Given the description of an element on the screen output the (x, y) to click on. 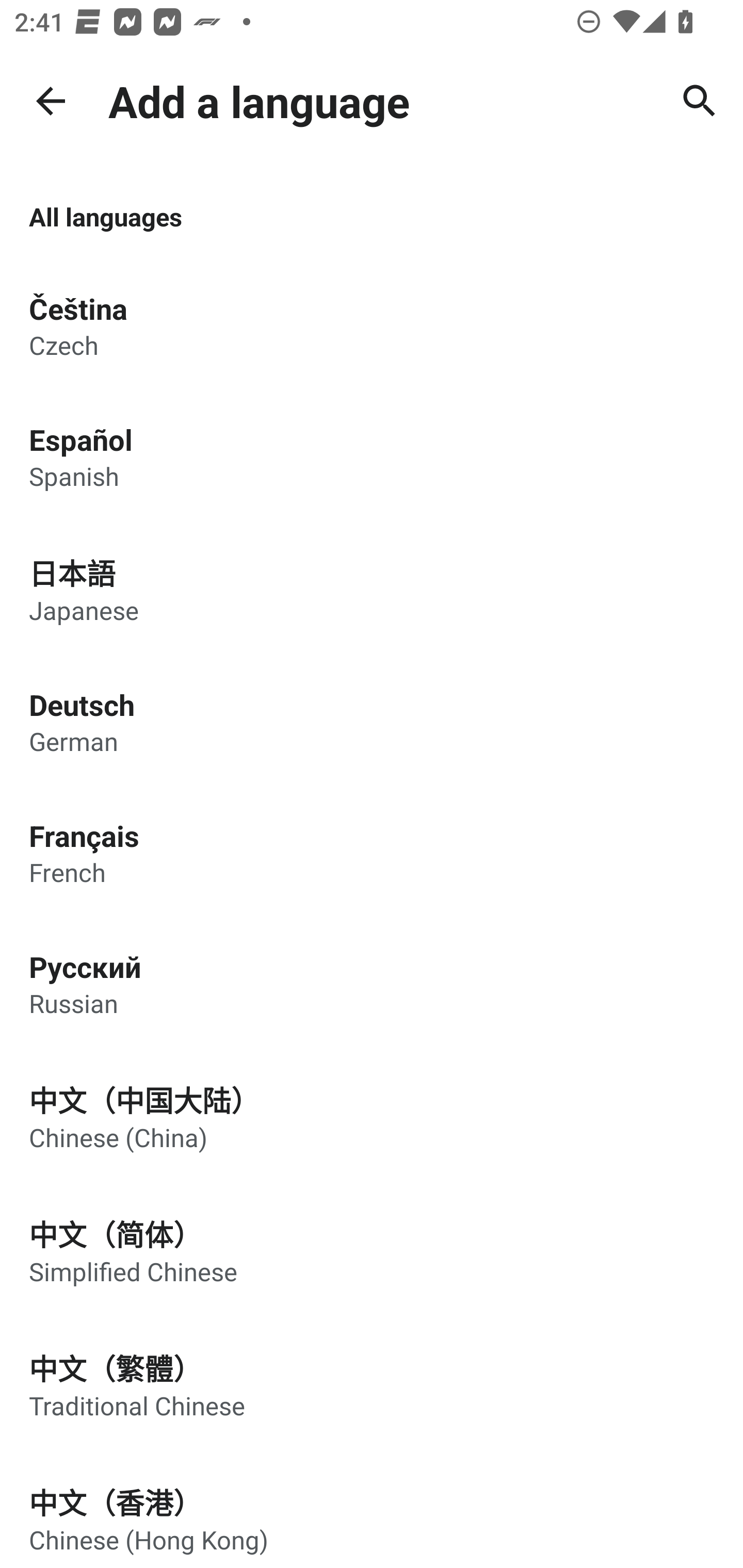
Navigate up (50, 101)
Search for a language (699, 101)
Čeština Czech (371, 325)
Español Spanish (371, 456)
日本語 Japanese (371, 588)
Deutsch German (371, 721)
Français French (371, 852)
Русский Russian (371, 983)
中文（中国大陆） Chinese (China) (371, 1115)
中文（简体） Simplified Chinese (371, 1250)
中文（繁體） Traditional Chinese (371, 1384)
中文（香港） Chinese (Hong Kong) (371, 1509)
